Given the description of an element on the screen output the (x, y) to click on. 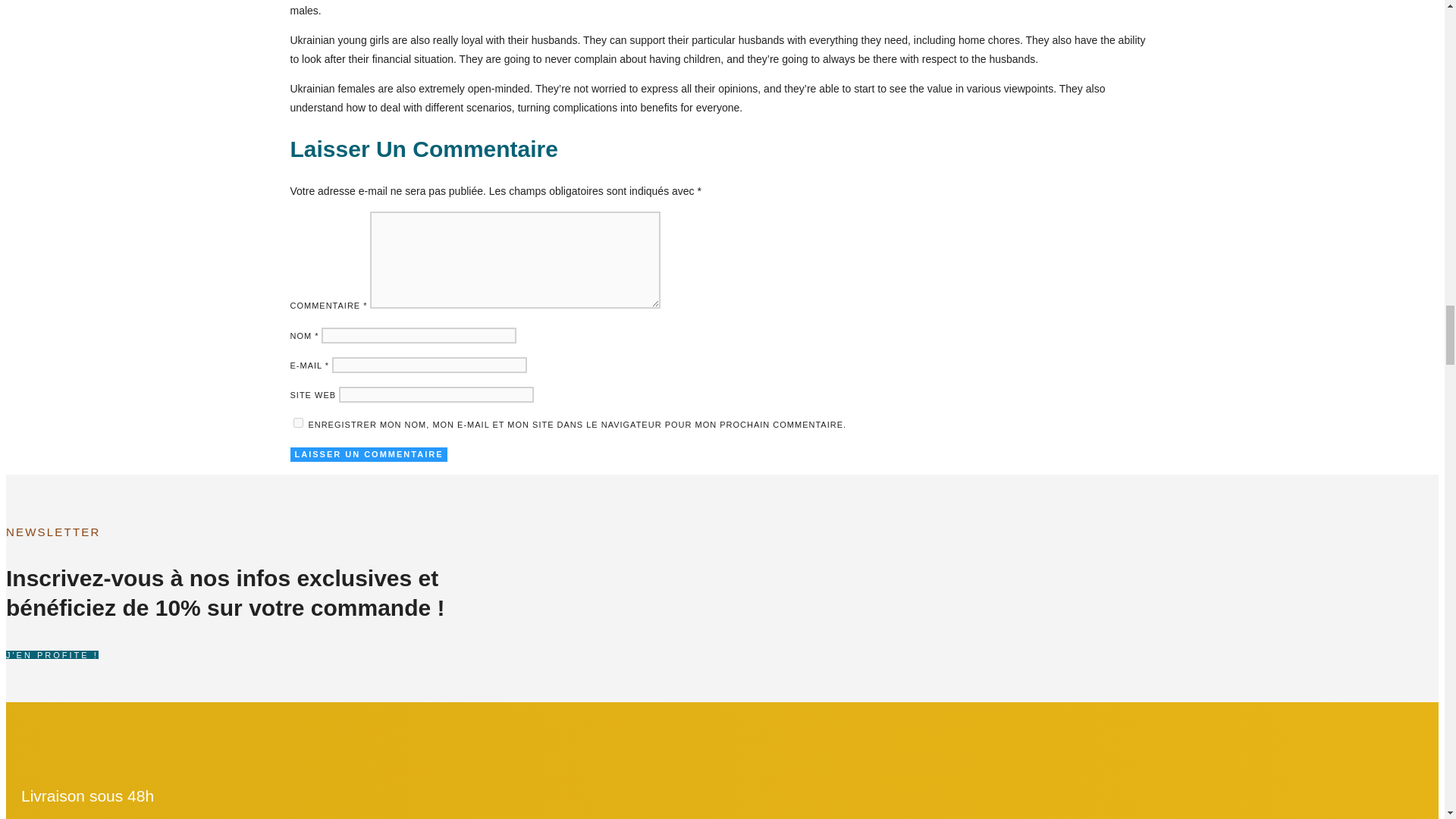
J'EN PROFITE ! (240, 654)
Laisser un commentaire (367, 454)
yes (297, 422)
NEWSLETTER (244, 532)
